Given the description of an element on the screen output the (x, y) to click on. 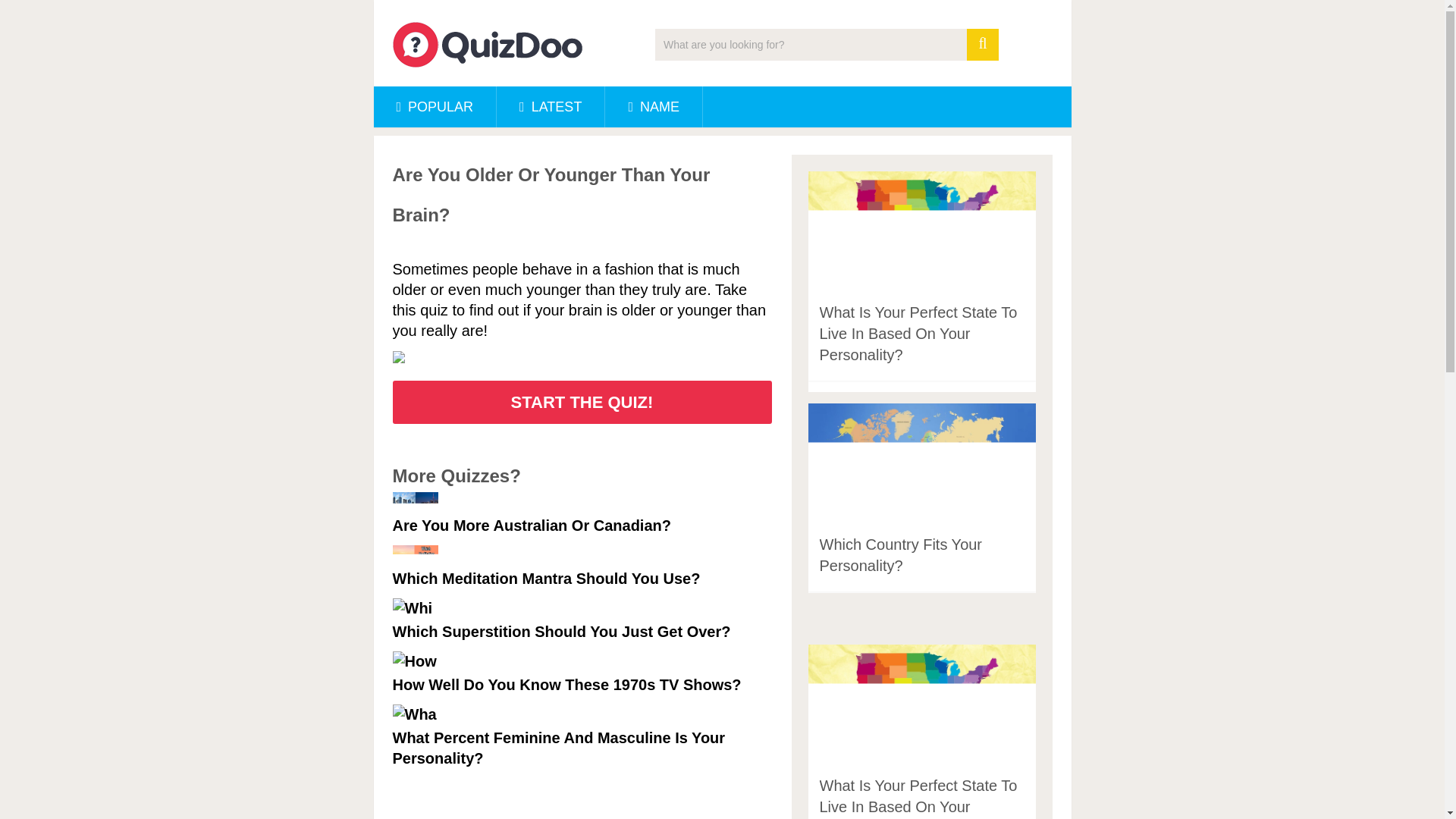
POPULAR (434, 106)
Are You More Australian Or Canadian? (582, 514)
START THE QUIZ! (582, 402)
Which Meditation Mantra Should You Use? (582, 566)
What Percent Feminine And Masculine Is Your Personality? (582, 736)
NAME (653, 106)
Which Country Fits Your Personality? (899, 555)
